Given the description of an element on the screen output the (x, y) to click on. 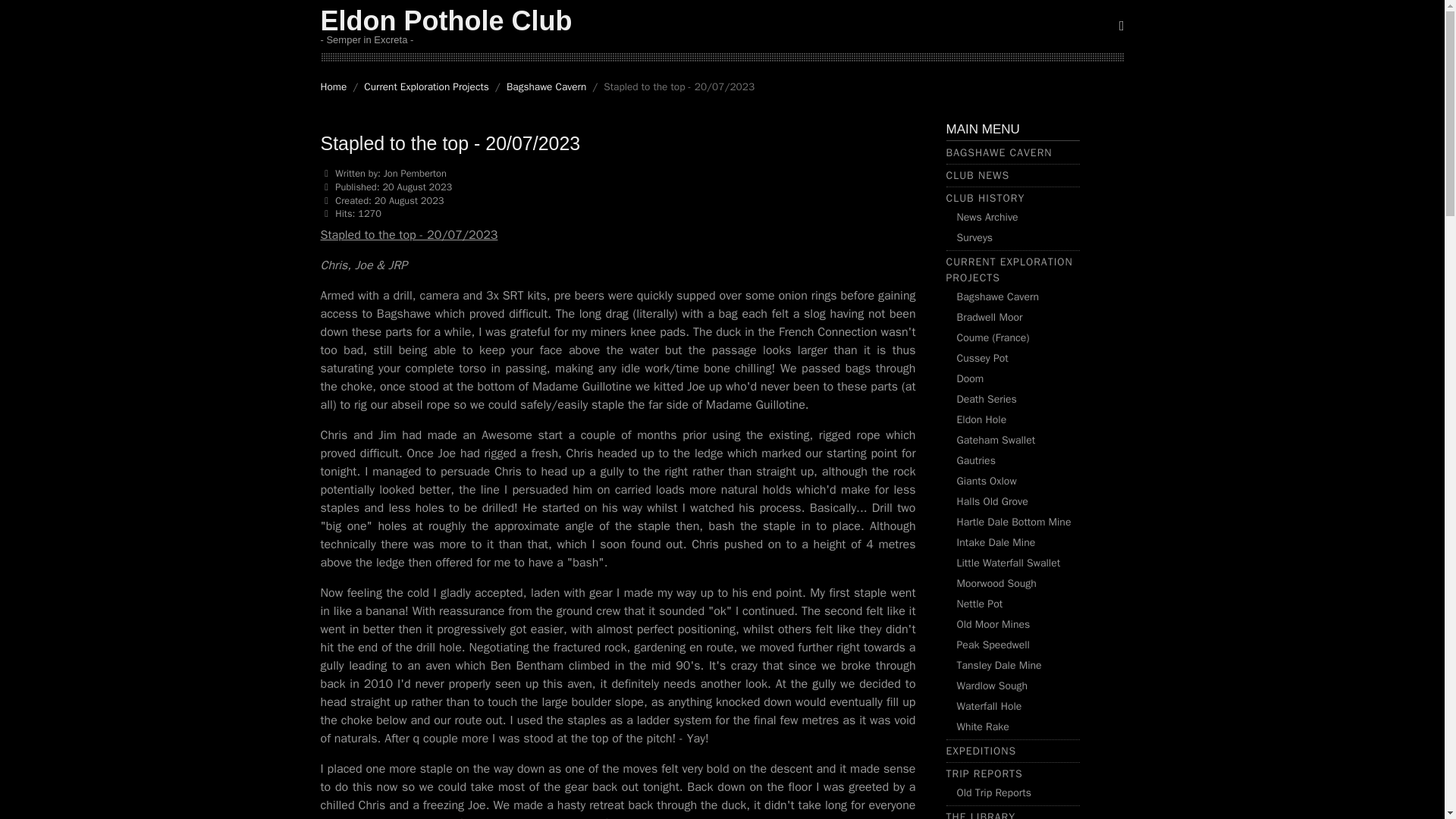
BAGSHAWE CAVERN (999, 152)
Home (333, 86)
Tansley Dale Mine (999, 665)
CLUB HISTORY (985, 197)
Bagshawe Cavern (997, 296)
Cussey Pot (982, 358)
Wardlow Sough (991, 685)
CURRENT EXPLORATION PROJECTS (1009, 269)
Eldon Pothole Club (446, 20)
Little Waterfall Swallet (1008, 562)
Current Exploration Projects (426, 86)
Surveys (974, 237)
Eldon Pothole Club (446, 20)
Intake Dale Mine (995, 542)
Nettle Pot (979, 603)
